Given the description of an element on the screen output the (x, y) to click on. 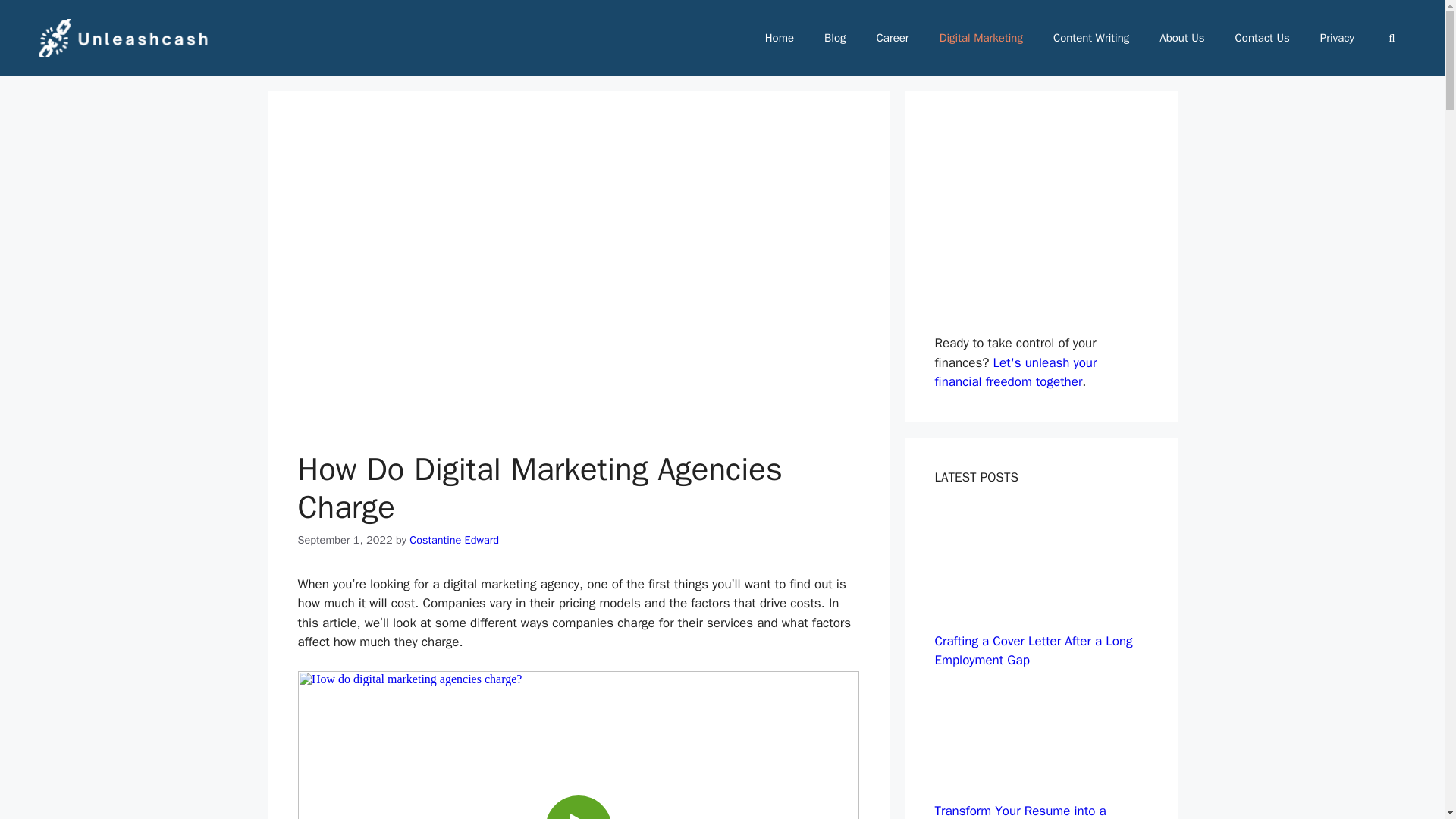
Digital Marketing (981, 37)
Costantine Edward (454, 540)
Content Writing (1091, 37)
Blog (834, 37)
Career (892, 37)
How do digital marketing agencies charge? (578, 744)
Privacy (1337, 37)
Contact Us (1262, 37)
About Us (1182, 37)
View all posts by Costantine Edward (454, 540)
Home (779, 37)
